Given the description of an element on the screen output the (x, y) to click on. 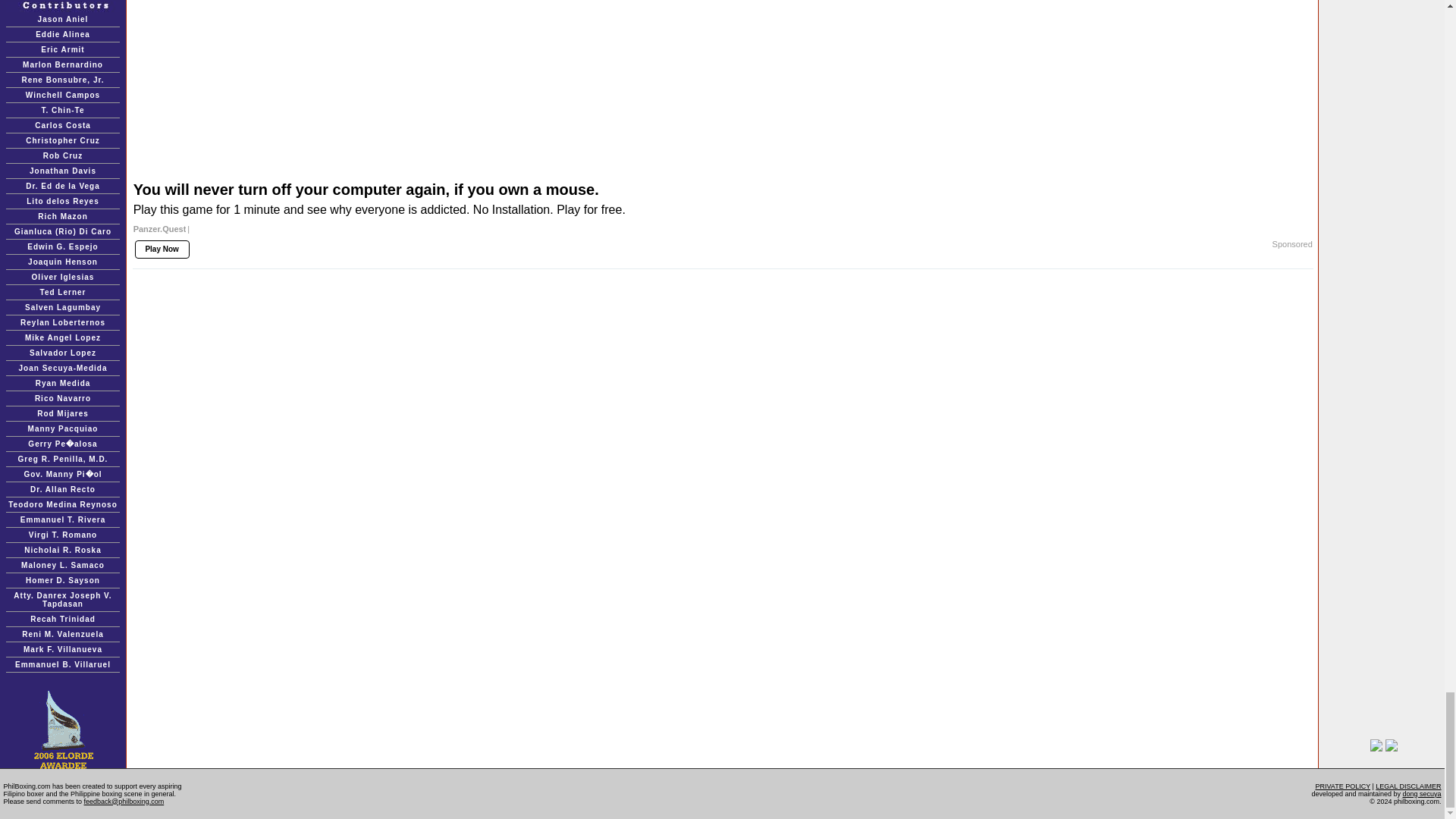
Carlos Costa (62, 125)
Jonathan Davis (62, 171)
Rene Bonsubre, Jr. (62, 80)
Jason Aniel (62, 19)
Winchell Campos (63, 94)
Mike Angel Lopez (62, 337)
Eddie Alinea (62, 34)
Eric Armit (62, 49)
Edwin G. Espejo (62, 246)
Dr. Ed de la Vega (63, 185)
Reylan Loberternos (62, 322)
Joaquin Henson (62, 261)
Manny Pacquiao (63, 429)
Marlon Bernardino (63, 64)
Greg R. Penilla, M.D. (62, 459)
